Given the description of an element on the screen output the (x, y) to click on. 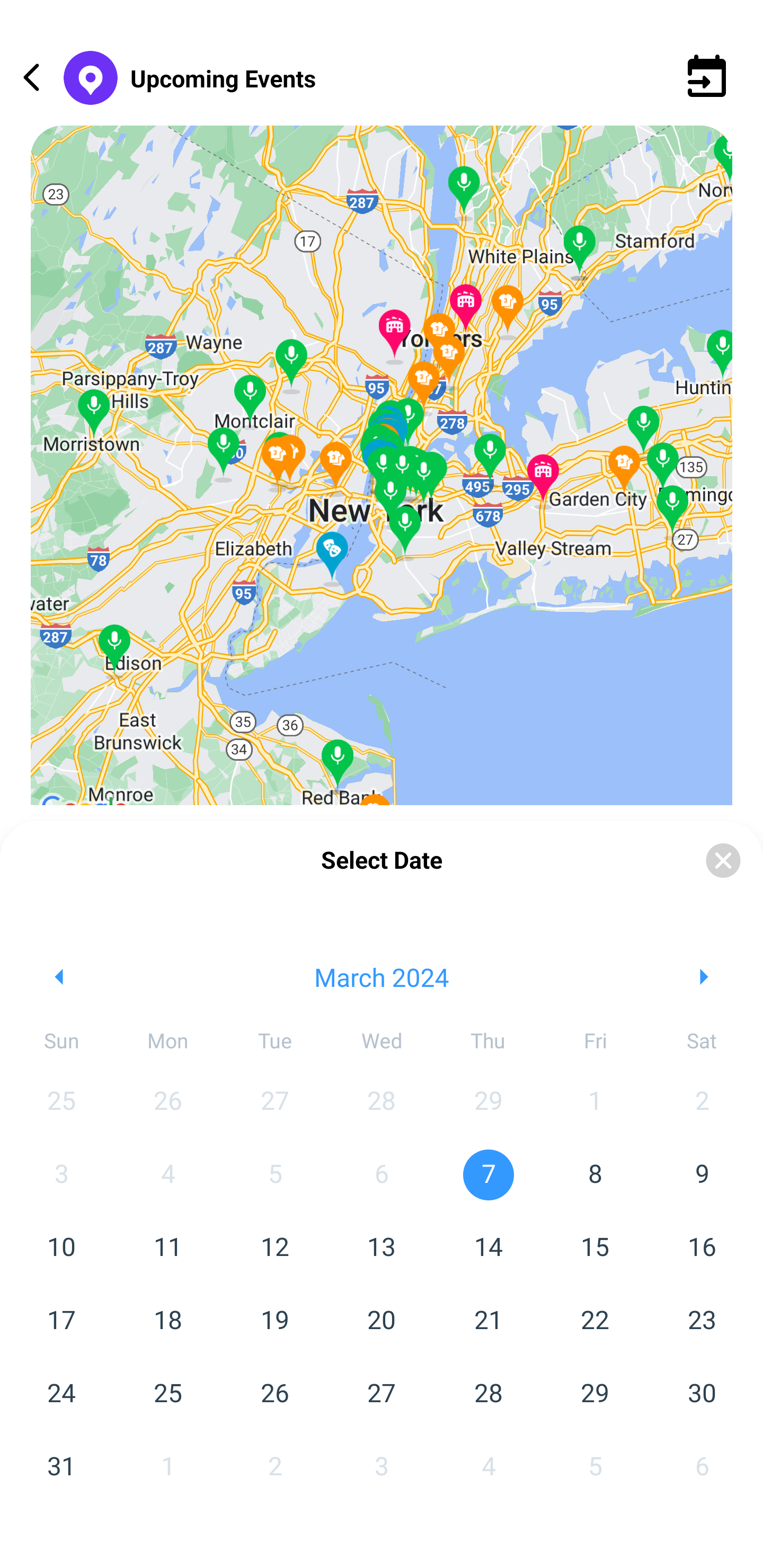
 Sunday 25 February 2024  25 (60, 1101)
 Monday 26 February 2024  26 (167, 1101)
 Tuesday 27 February 2024  27 (274, 1101)
 Wednesday 28 February 2024  28 (381, 1101)
 Thursday 29 February 2024  29 (488, 1101)
 Friday 1 March 2024  1 (594, 1101)
 Saturday 2 March 2024  2 (701, 1101)
 Sunday 3 March 2024  3 (60, 1175)
 Monday 4 March 2024  4 (167, 1175)
 Tuesday 5 March 2024  5 (274, 1175)
 Wednesday 6 March 2024  6 (381, 1175)
 Friday 8 March 2024  8 (594, 1175)
 Saturday 9 March 2024  9 (701, 1175)
 Sunday 10 March 2024  10 (60, 1248)
 Monday 11 March 2024  11 (167, 1248)
 Tuesday 12 March 2024  12 (274, 1248)
 Wednesday 13 March 2024  13 (381, 1248)
 Thursday 14 March 2024  14 (488, 1248)
 Friday 15 March 2024  15 (594, 1248)
 Saturday 16 March 2024  16 (701, 1248)
 Sunday 17 March 2024  17 (60, 1320)
 Monday 18 March 2024  18 (167, 1320)
 Tuesday 19 March 2024  19 (274, 1320)
 Wednesday 20 March 2024  20 (381, 1320)
 Thursday 21 March 2024  21 (488, 1320)
 Friday 22 March 2024  22 (594, 1320)
 Saturday 23 March 2024  23 (701, 1320)
 Sunday 24 March 2024  24 (60, 1393)
 Monday 25 March 2024  25 (167, 1393)
 Tuesday 26 March 2024  26 (274, 1393)
 Wednesday 27 March 2024  27 (381, 1393)
 Thursday 28 March 2024  28 (488, 1393)
 Friday 29 March 2024  29 (594, 1393)
 Saturday 30 March 2024  30 (701, 1393)
 Sunday 31 March 2024  31 (60, 1467)
 Monday 1 April 2024  1 (167, 1467)
 Tuesday 2 April 2024  2 (274, 1467)
 Wednesday 3 April 2024  3 (381, 1467)
 Thursday 4 April 2024  4 (488, 1467)
 Friday 5 April 2024  5 (594, 1467)
 Saturday 6 April 2024  6 (701, 1467)
